Given the description of an element on the screen output the (x, y) to click on. 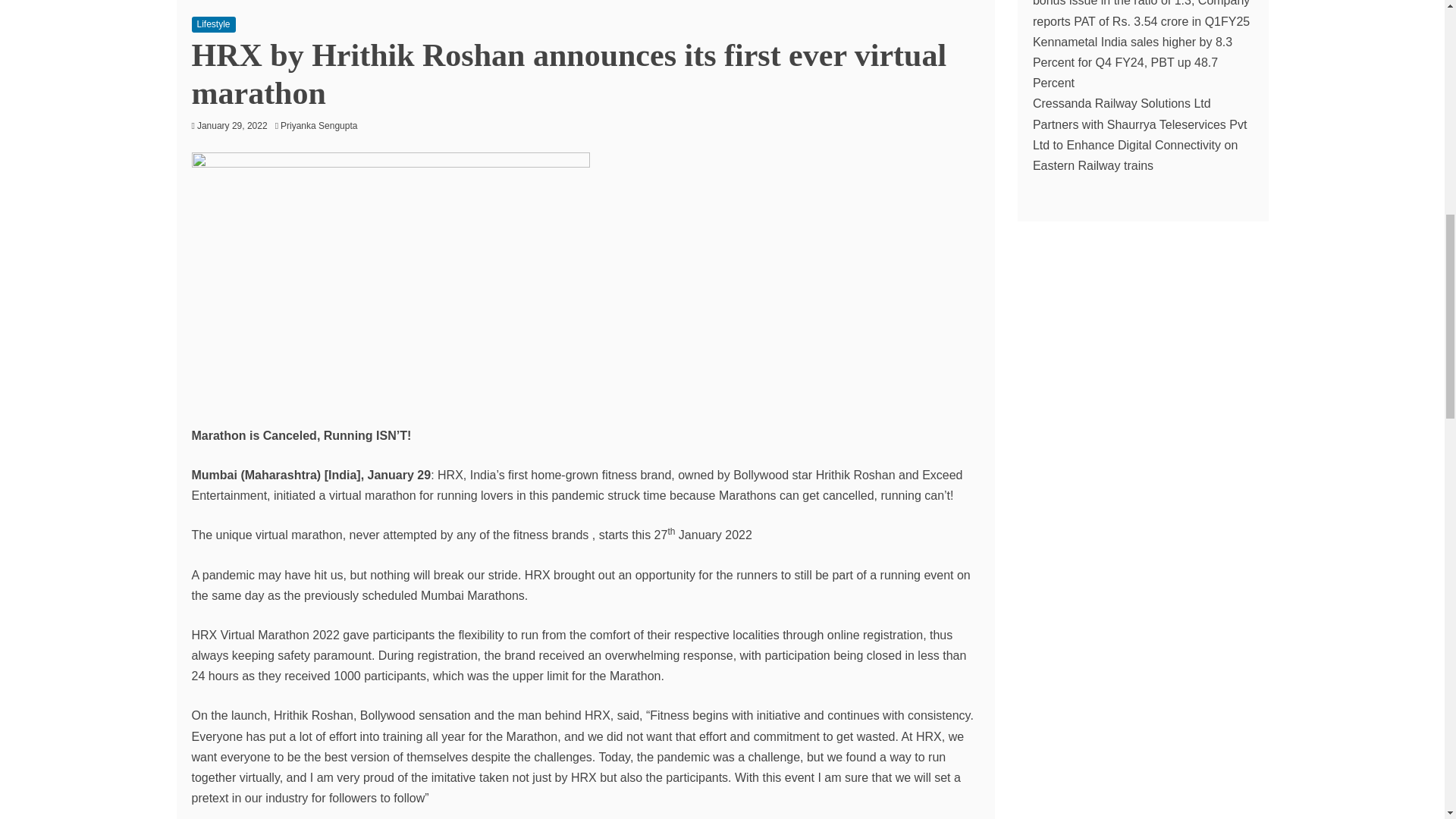
Priyanka Sengupta (323, 125)
January 29, 2022 (231, 125)
Lifestyle (212, 23)
